Given the description of an element on the screen output the (x, y) to click on. 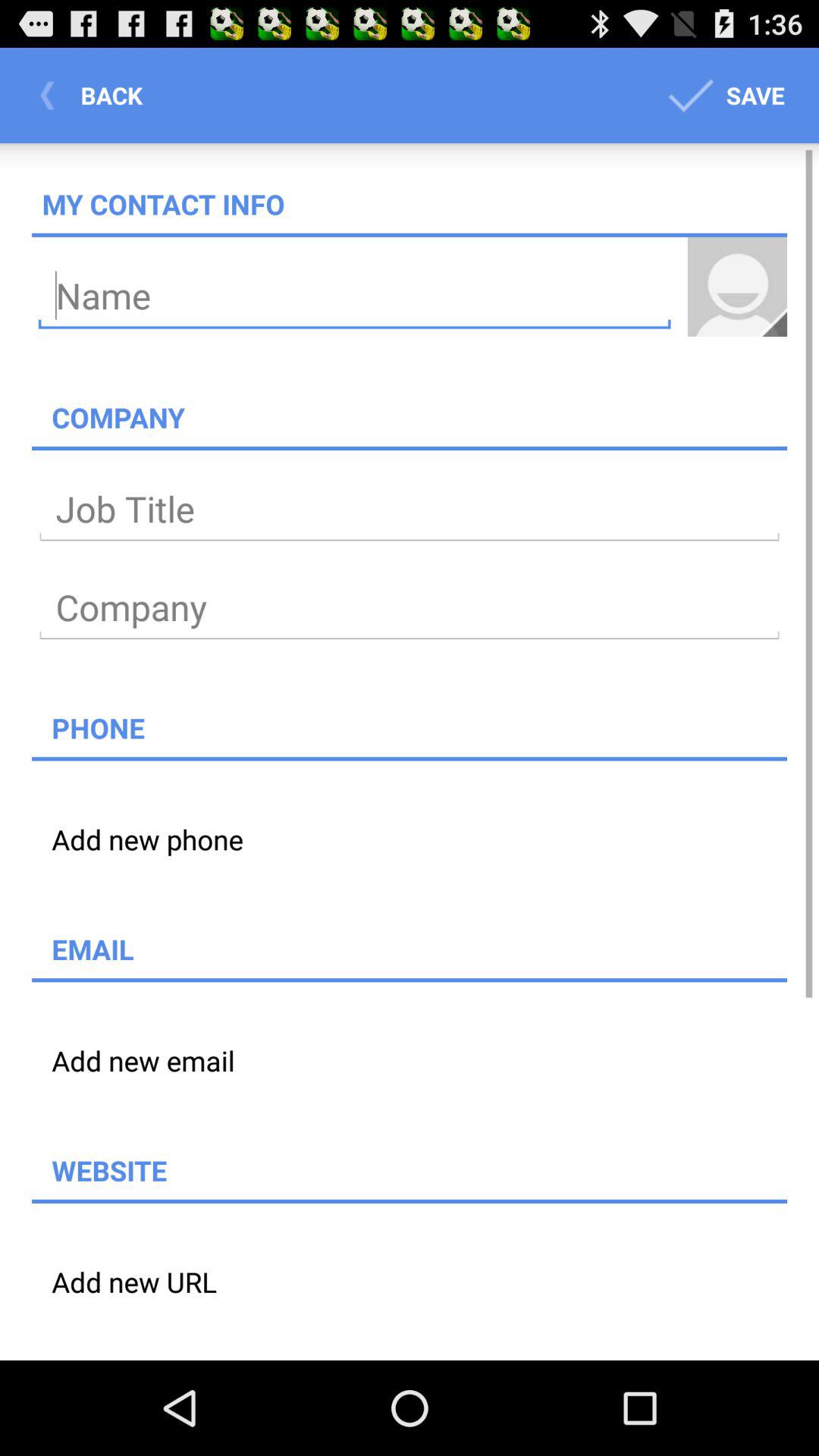
so you can enter your company (409, 607)
